Given the description of an element on the screen output the (x, y) to click on. 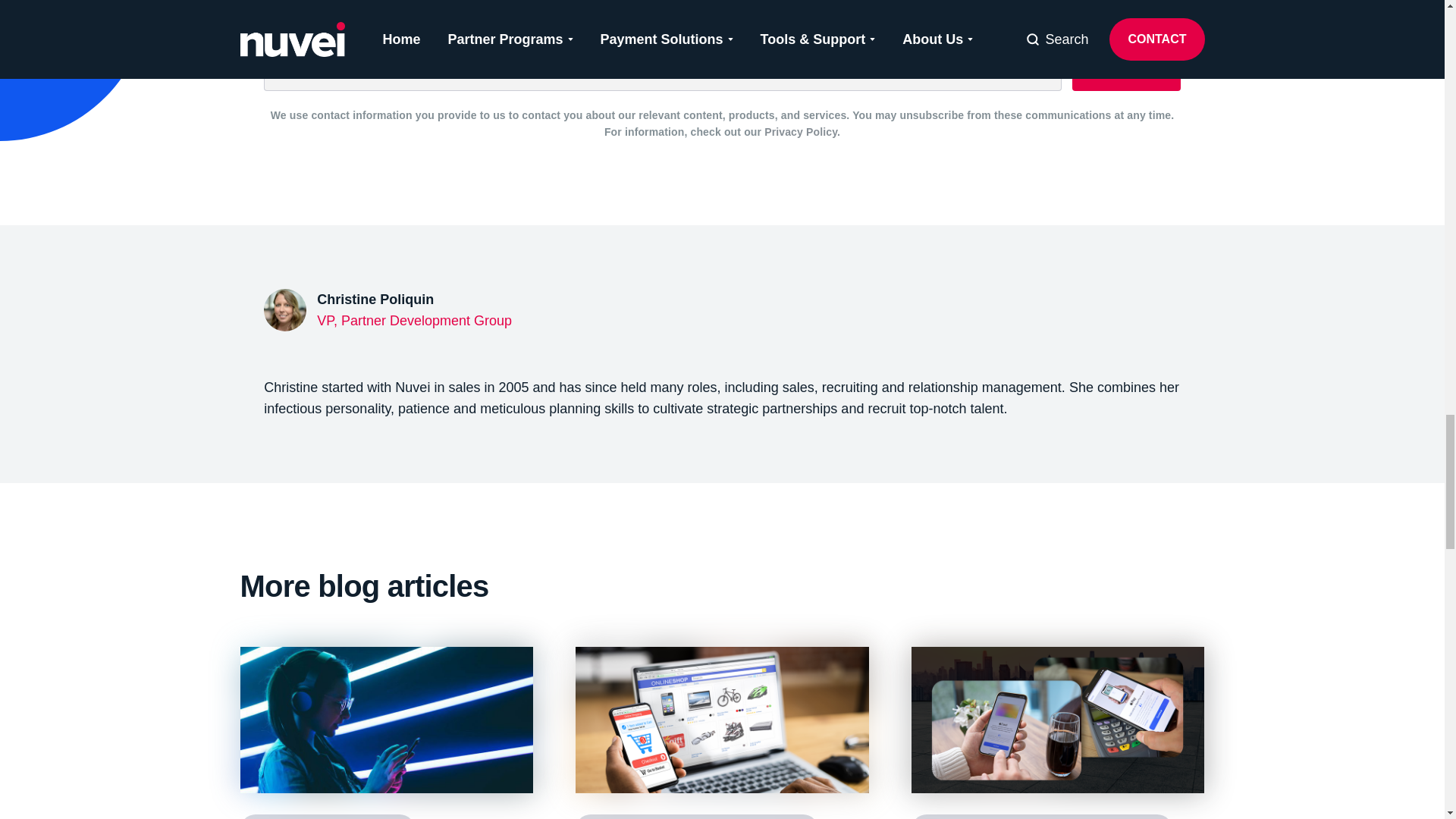
Privacy Policy. (802, 132)
Subscribe (1125, 64)
PAYMENT TECHNOLOGY (326, 816)
Subscribe (721, 317)
